Given the description of an element on the screen output the (x, y) to click on. 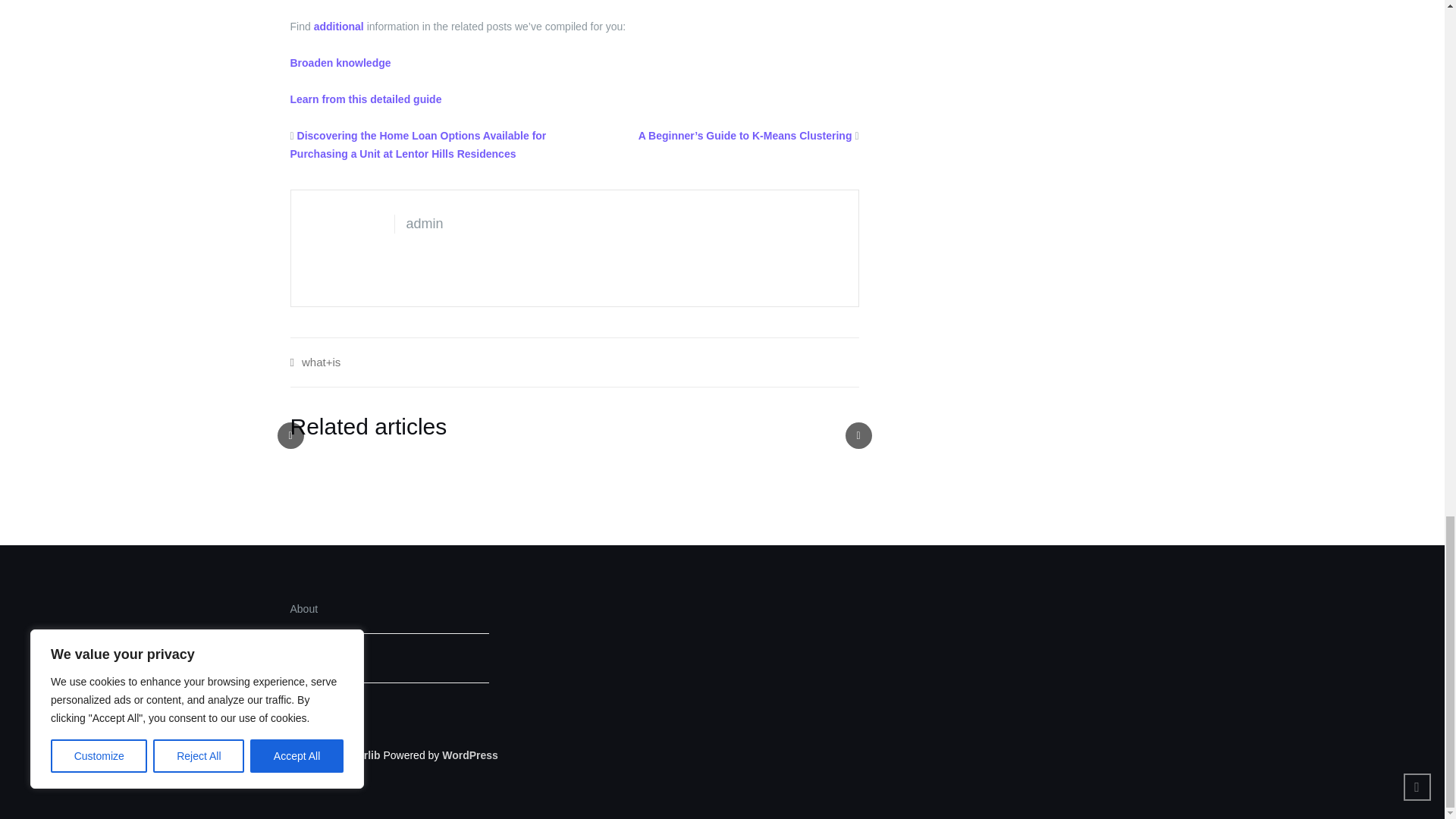
additional (339, 26)
Learn from this detailed guide (365, 99)
Colorlib (360, 755)
WordPress.org (469, 755)
Broaden knowledge (339, 62)
